Given the description of an element on the screen output the (x, y) to click on. 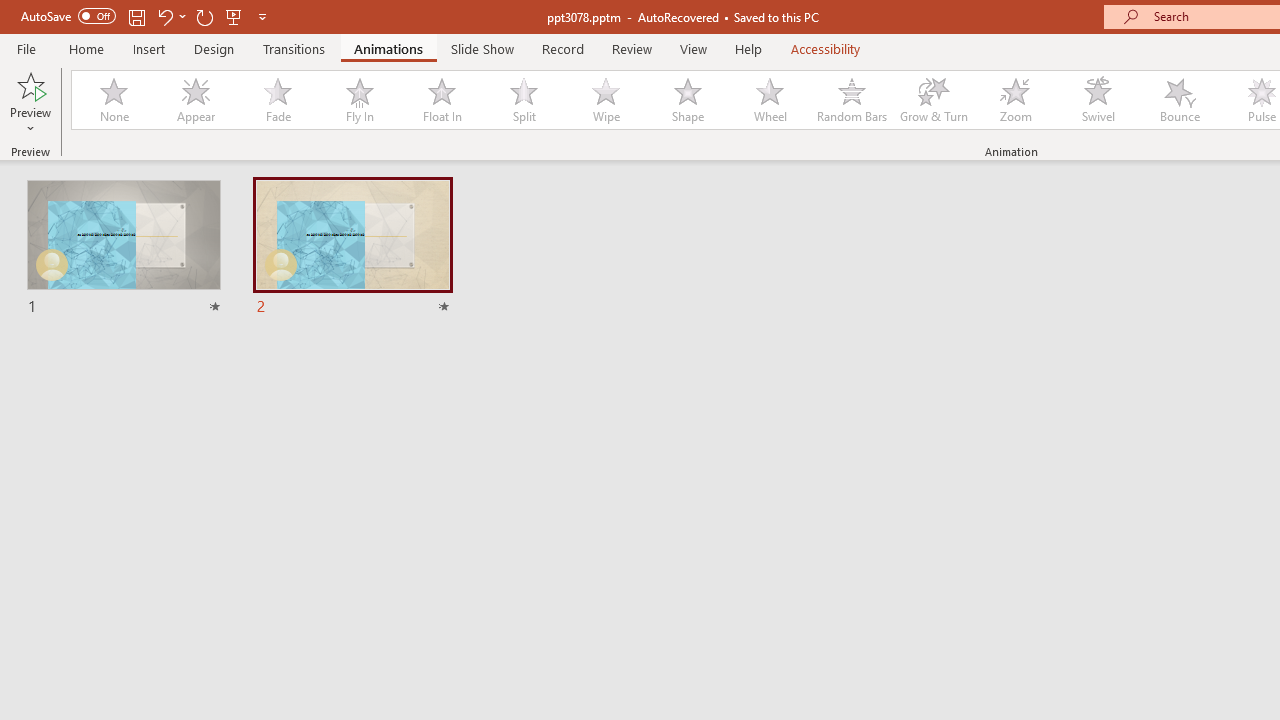
Appear (195, 100)
Accessibility (825, 48)
Split (523, 100)
None (113, 100)
Shape (687, 100)
Preview (30, 84)
Slide (352, 248)
Wheel (770, 100)
